Given the description of an element on the screen output the (x, y) to click on. 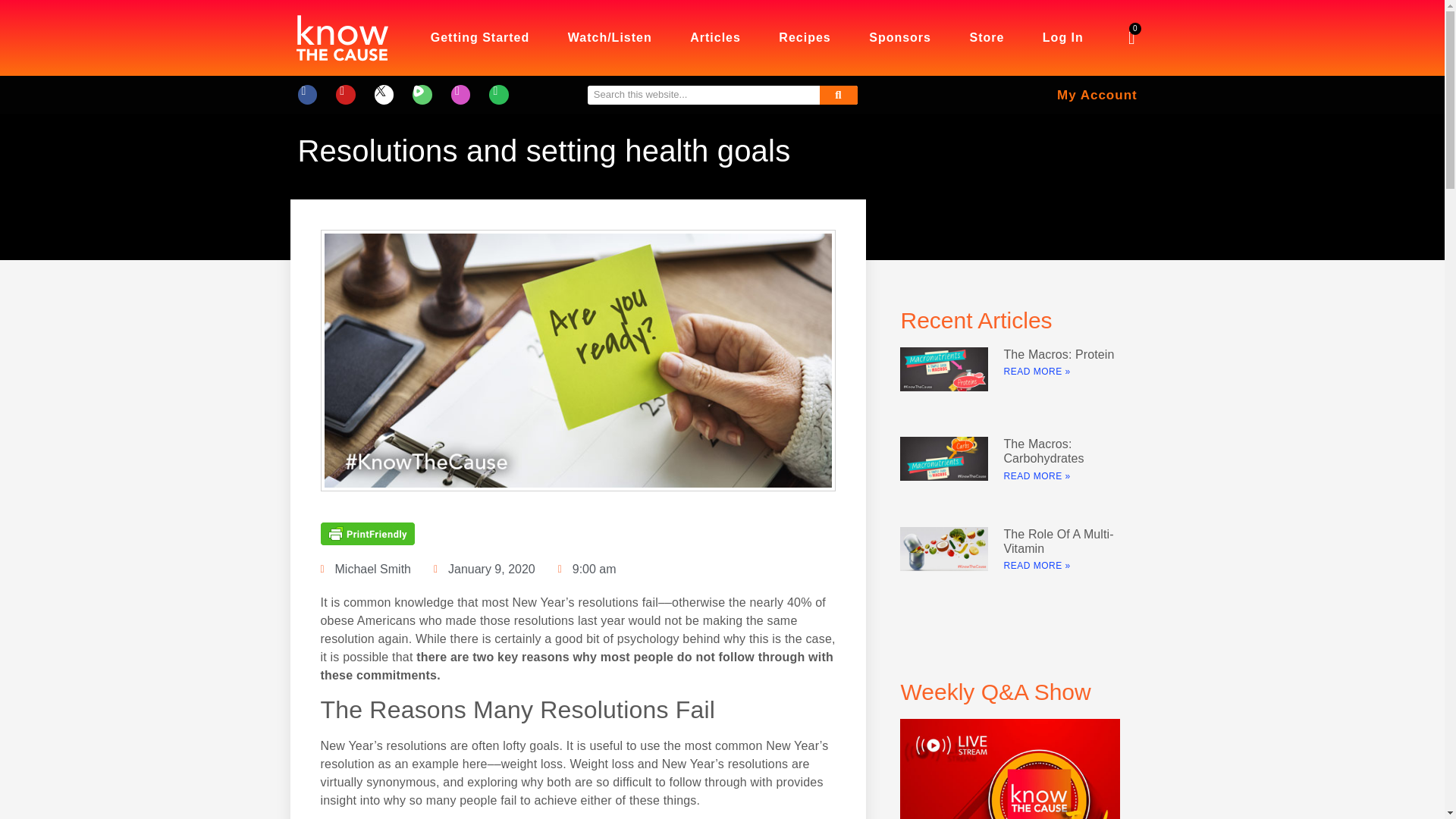
Click to view the Getting Started page (479, 37)
Articles (715, 37)
Click to Watch or Listen our latest videos and Podcasts (609, 37)
Sponsors (900, 37)
Getting Started (479, 37)
Recipes (805, 37)
Store (986, 37)
Click to view our Articles (715, 37)
Log In (1062, 37)
